Given the description of an element on the screen output the (x, y) to click on. 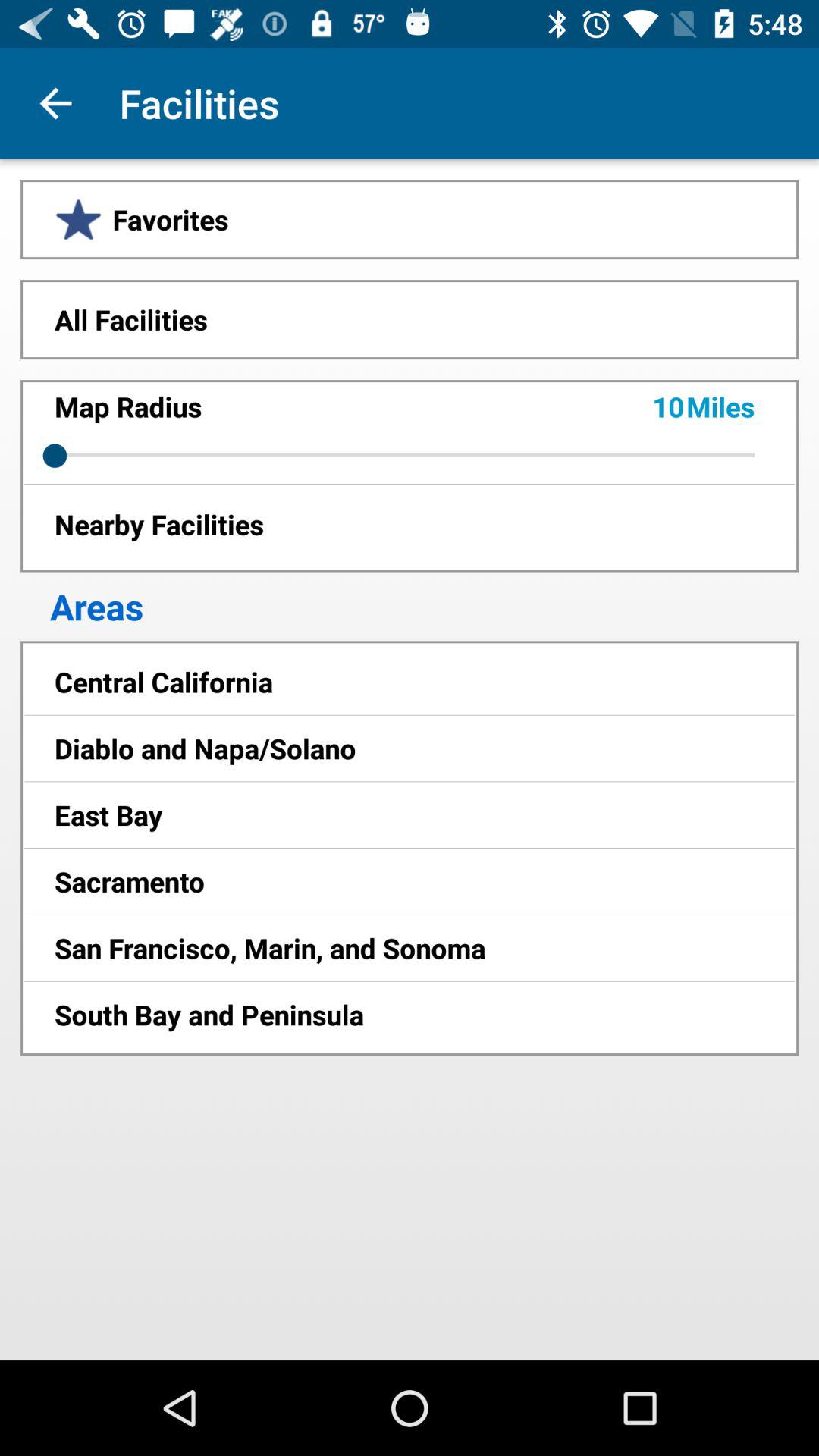
scroll until the all facilities (409, 319)
